Given the description of an element on the screen output the (x, y) to click on. 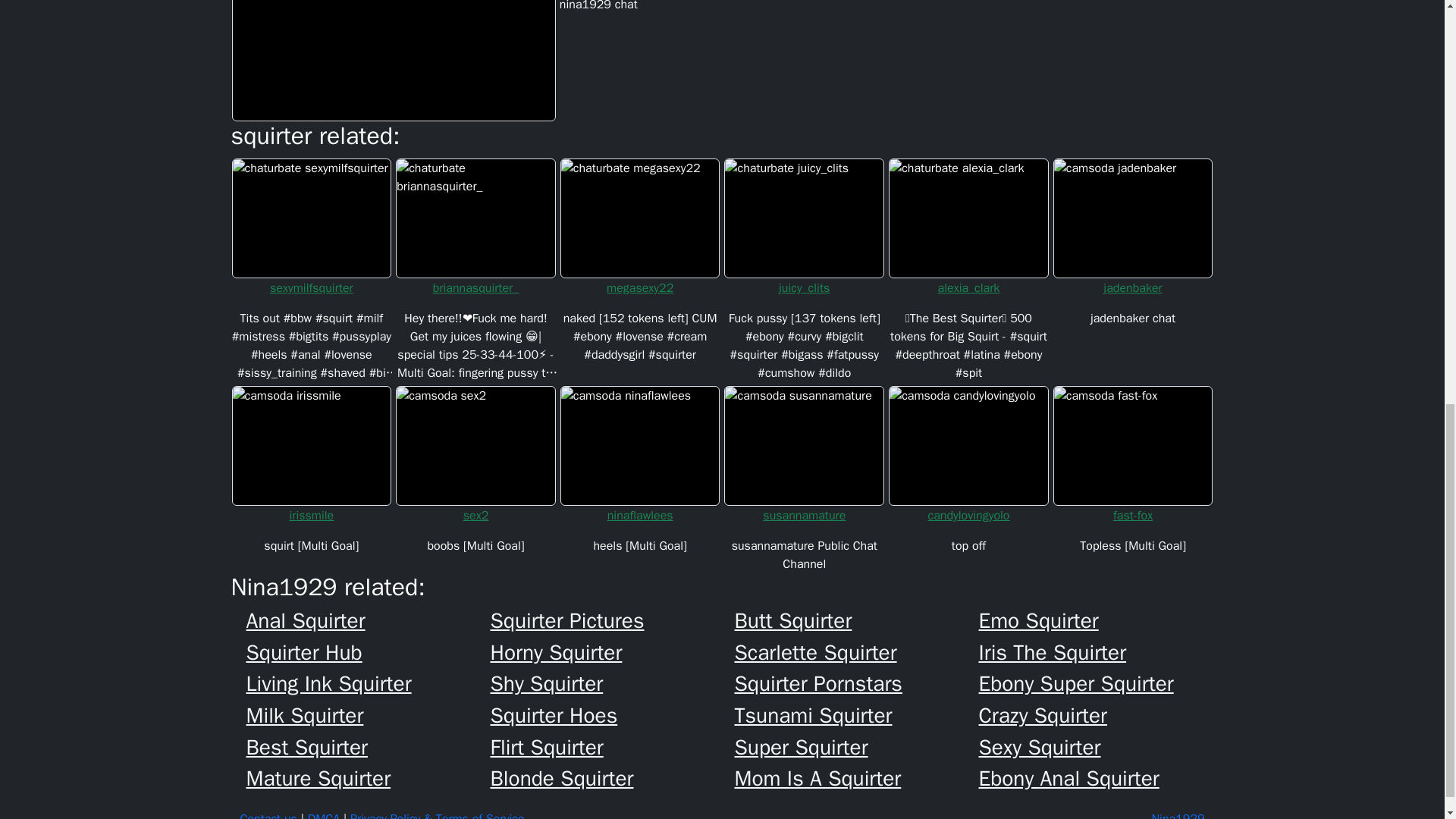
susannamature (804, 515)
sexymilfsquirter (310, 288)
Shy Squirter (611, 683)
Butt Squirter (855, 620)
Iris The Squirter (1100, 652)
Horny Squirter (611, 652)
Living Ink Squirter (367, 683)
fast-fox (1133, 515)
Anal Squirter (367, 620)
Emo Squirter (1100, 620)
Scarlette Squirter (855, 652)
jadenbaker (1133, 288)
sex2 (475, 515)
Squirter Hub (367, 652)
candylovingyolo (968, 515)
